Given the description of an element on the screen output the (x, y) to click on. 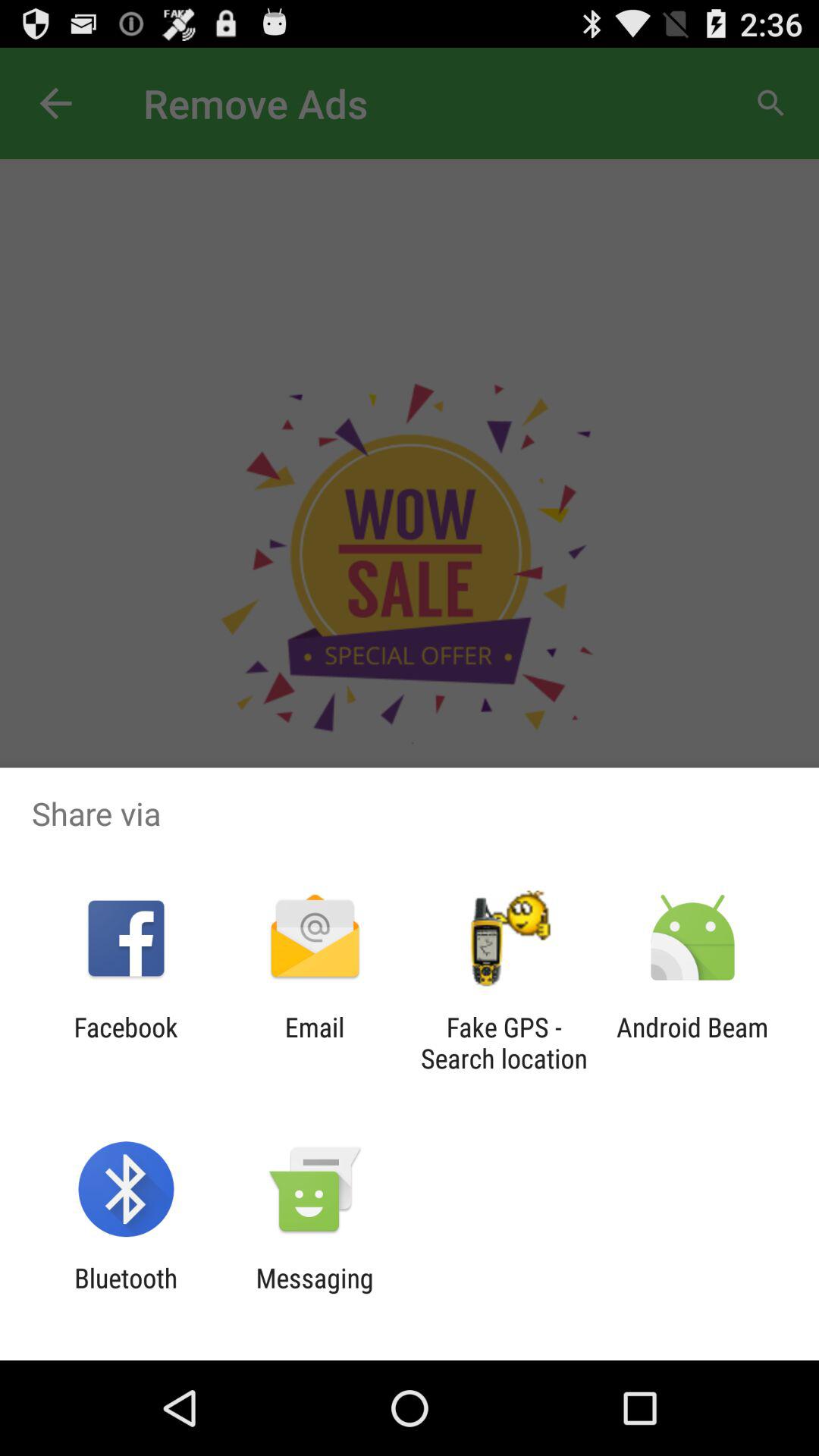
scroll to the facebook item (125, 1042)
